Given the description of an element on the screen output the (x, y) to click on. 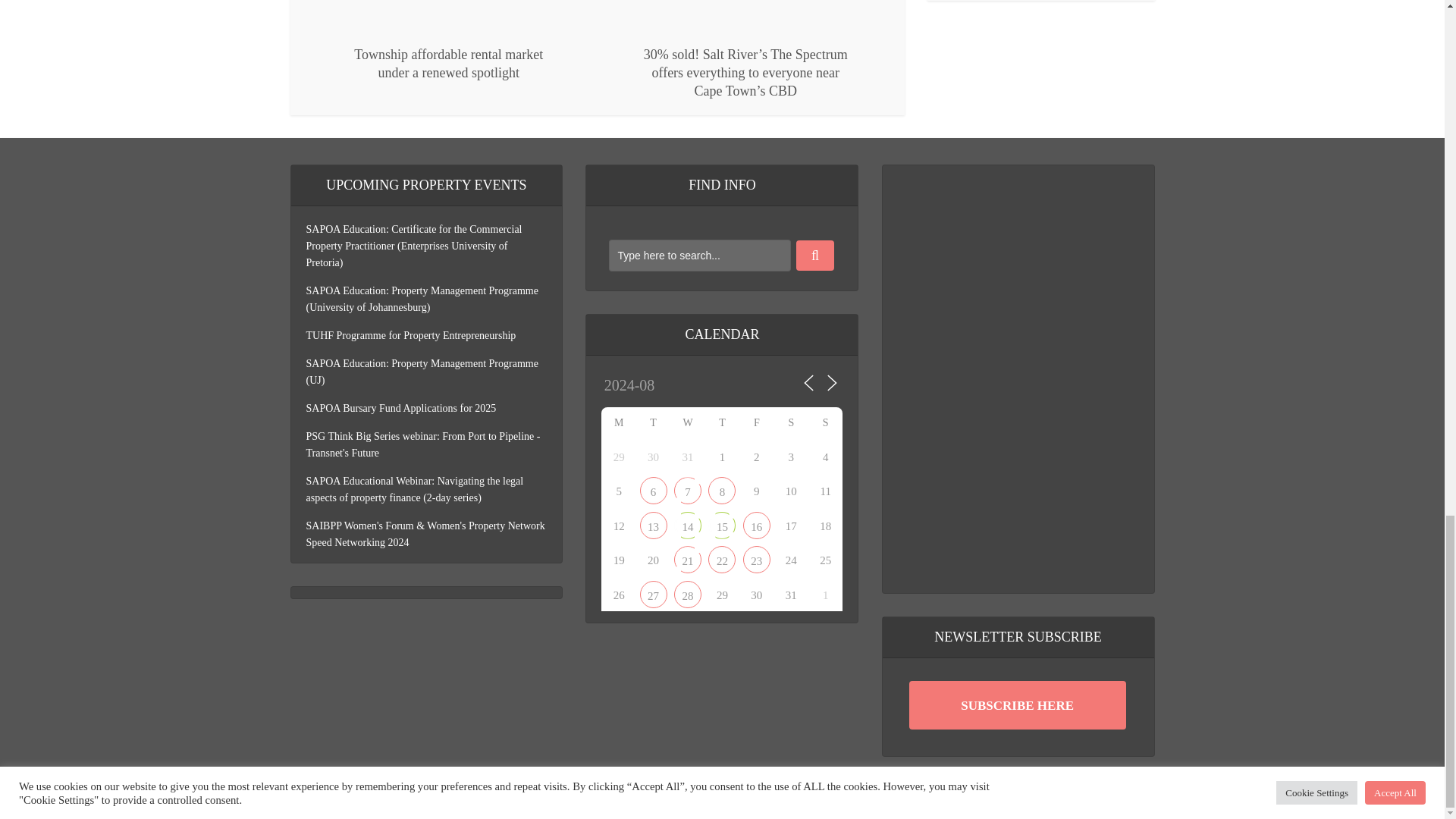
Type here to search... (699, 255)
2024-08 (668, 385)
Type here to search... (699, 255)
